Given the description of an element on the screen output the (x, y) to click on. 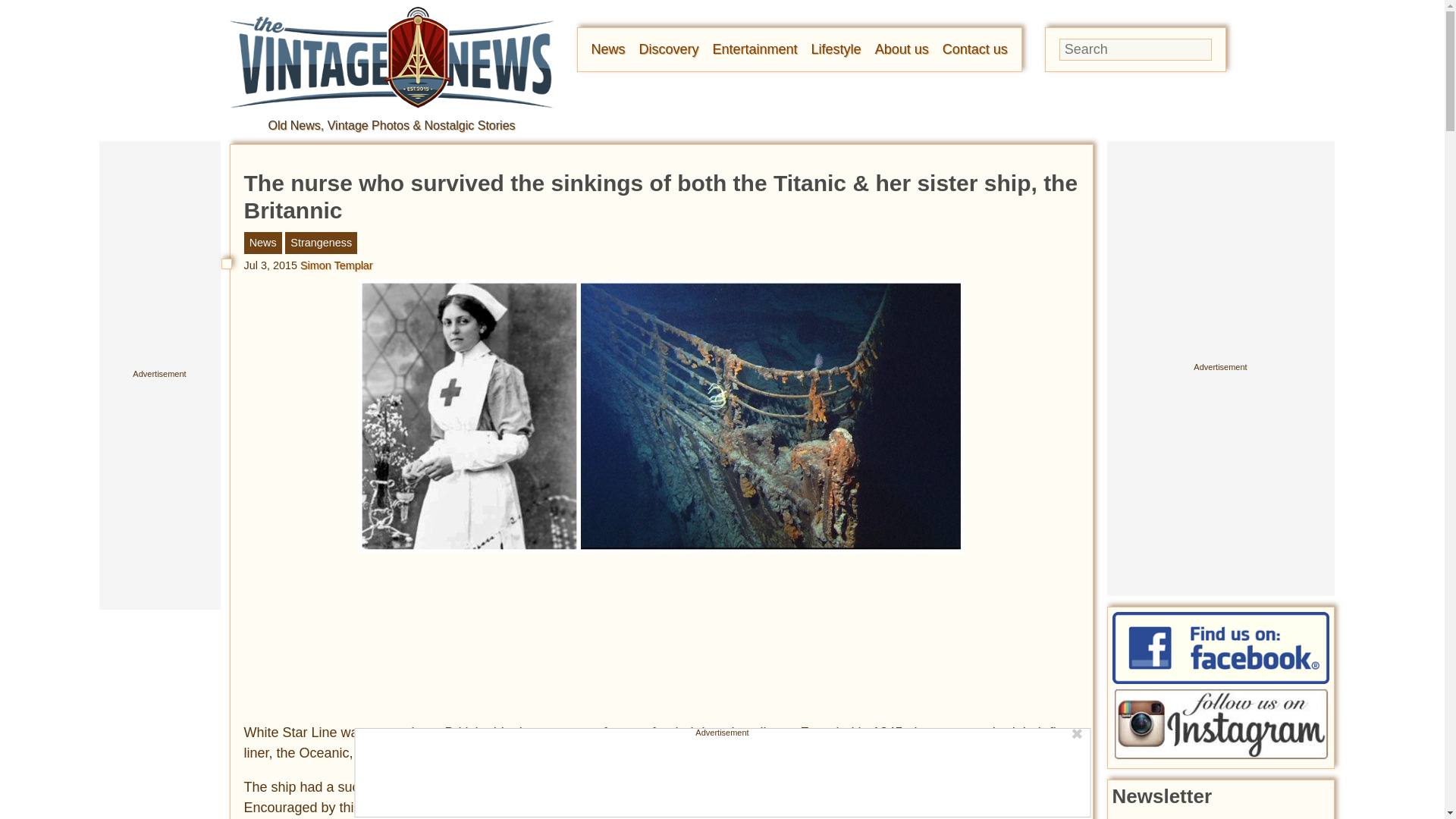
Lifestyle (835, 48)
News (608, 48)
Entertainment (755, 48)
Contact us (974, 48)
About us (901, 48)
Discovery (668, 48)
